Given the description of an element on the screen output the (x, y) to click on. 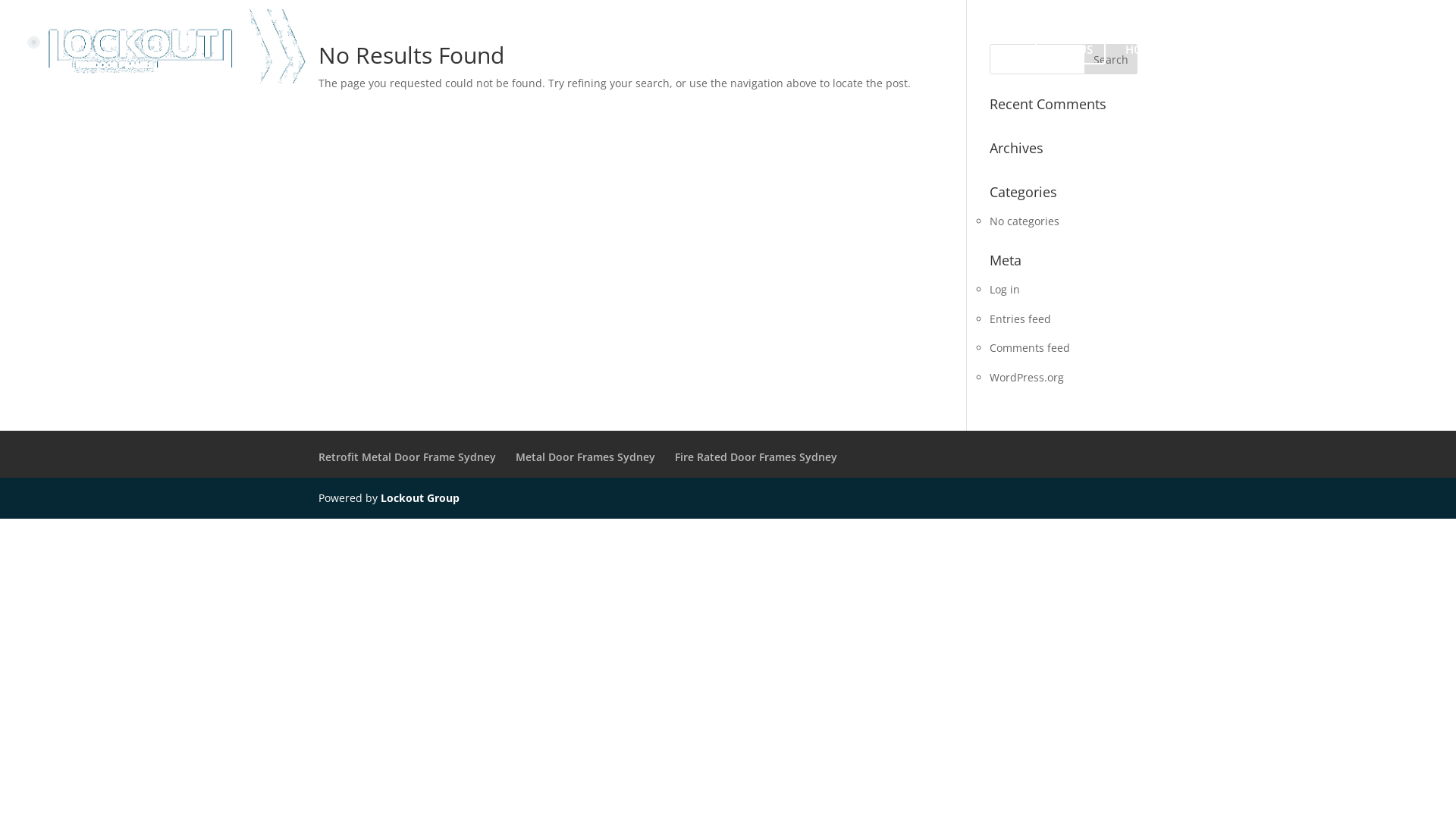
Search Element type: text (1110, 58)
Lockout Group Element type: text (419, 497)
Comments feed Element type: text (1029, 347)
Entries feed Element type: text (1020, 318)
Log in Element type: text (1004, 289)
CALL US Element type: text (1070, 63)
Metal Door Frames Sydney Element type: text (585, 456)
HOME Element type: text (1142, 63)
Fire Rated Door Frames Sydney Element type: text (755, 456)
ABOUT Element type: text (1198, 63)
PROJECTS Element type: text (1263, 63)
WordPress.org Element type: text (1026, 377)
CONTACT Element type: text (1406, 63)
SERVICES Element type: text (1335, 63)
Retrofit Metal Door Frame Sydney Element type: text (406, 456)
